Given the description of an element on the screen output the (x, y) to click on. 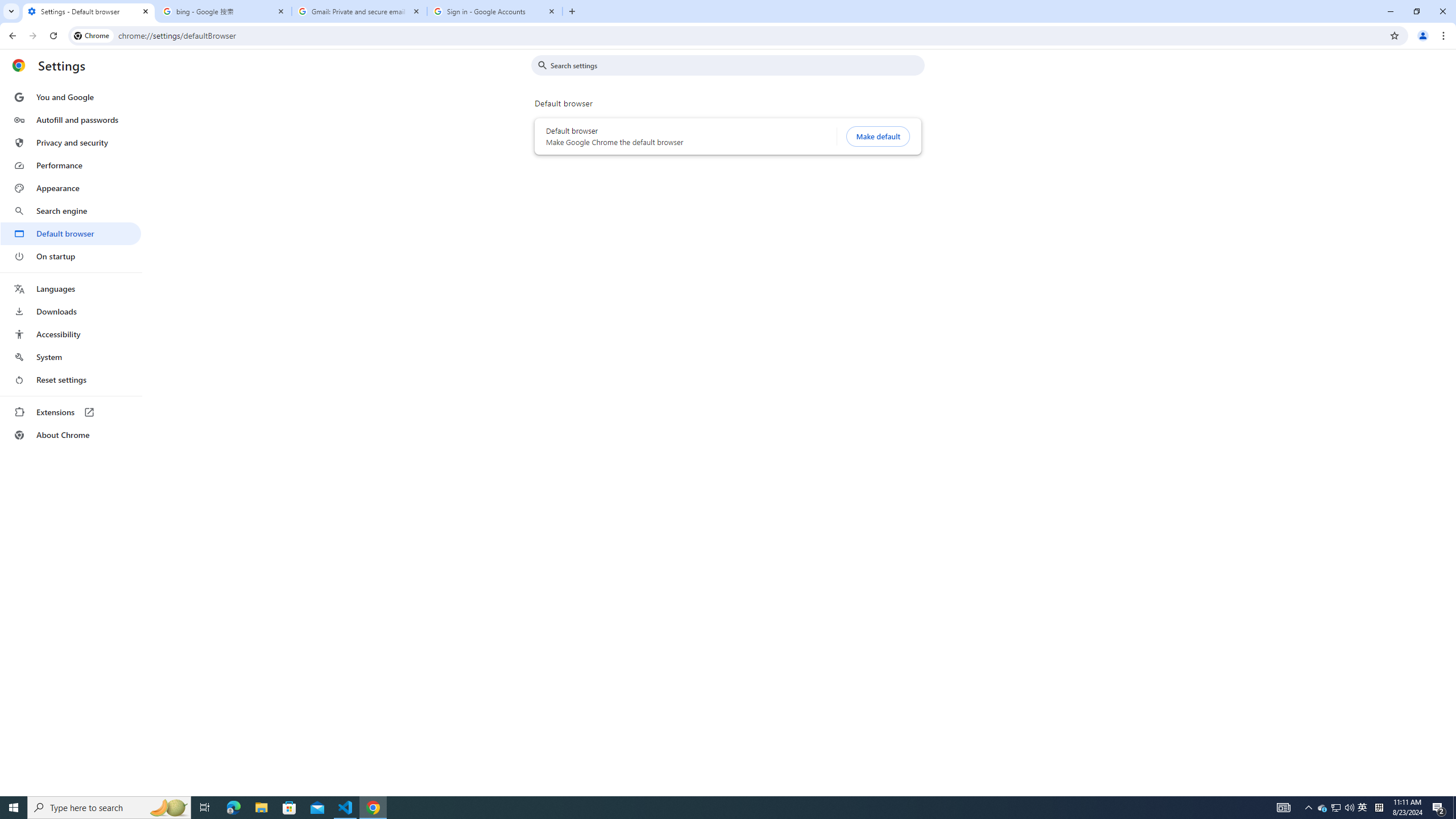
Privacy and security (70, 142)
About Chrome (70, 434)
Default browser (70, 233)
Downloads (70, 311)
